Given the description of an element on the screen output the (x, y) to click on. 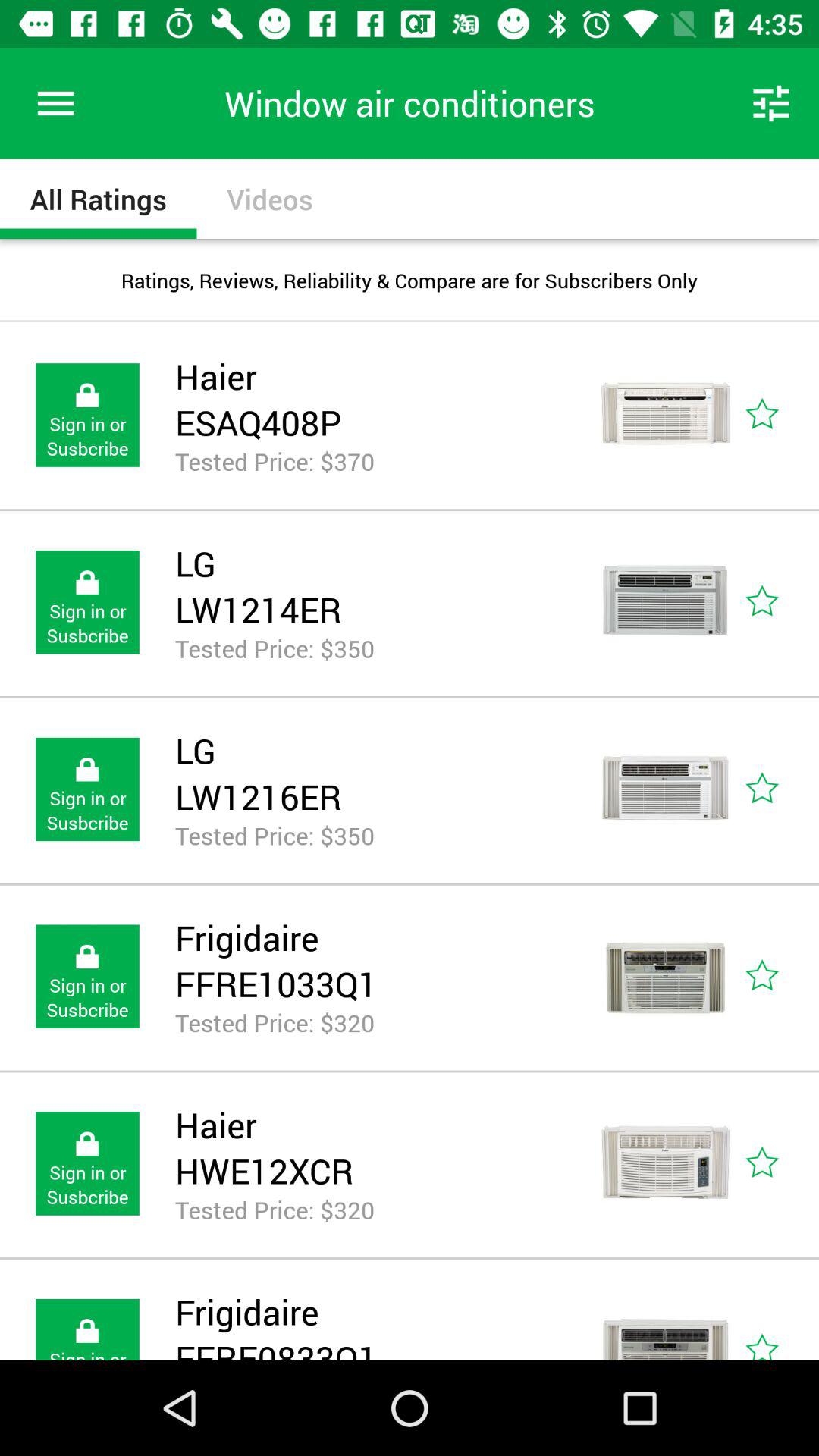
save to favorites (779, 1318)
